Given the description of an element on the screen output the (x, y) to click on. 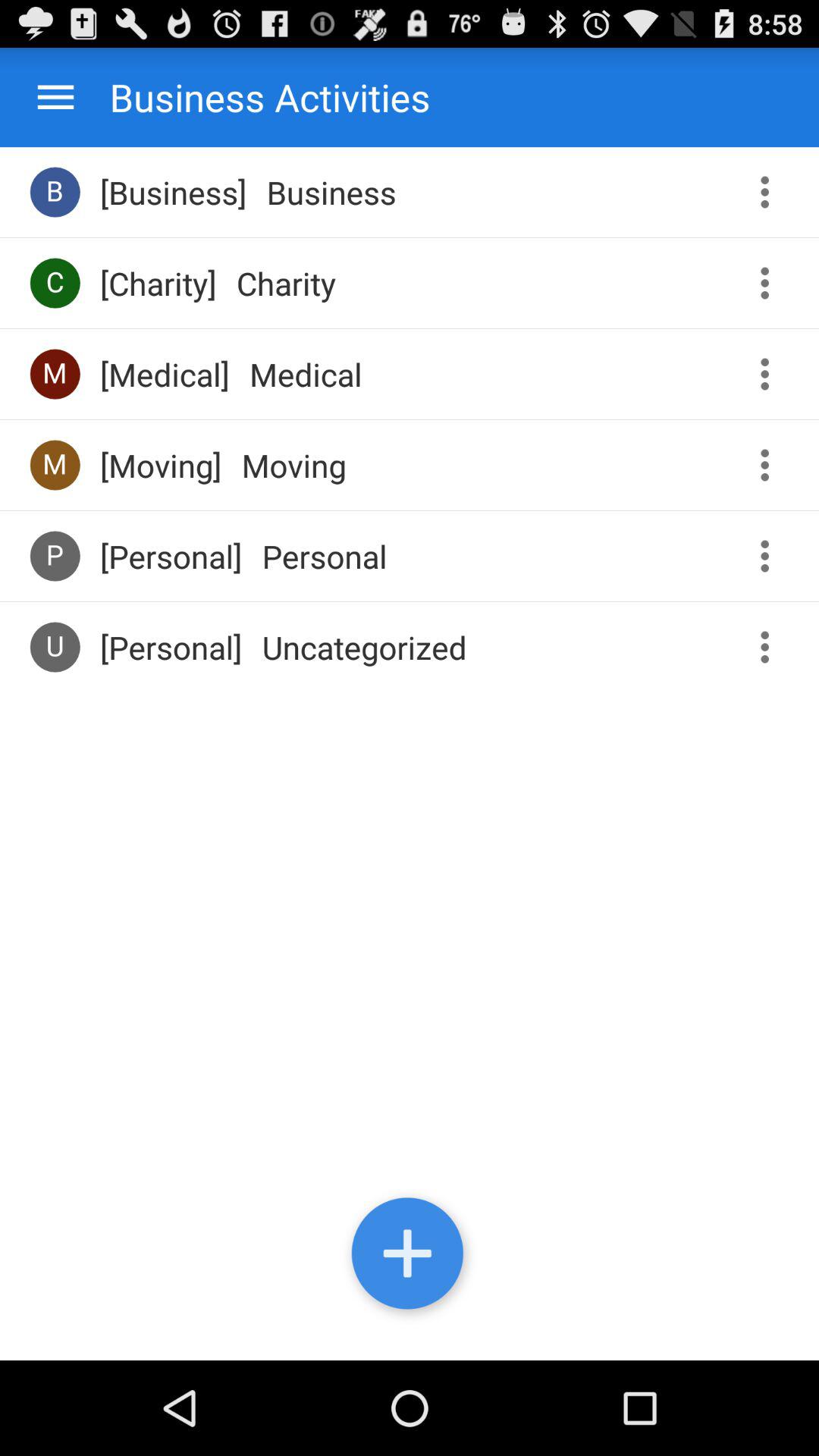
see other businesses (770, 192)
